Given the description of an element on the screen output the (x, y) to click on. 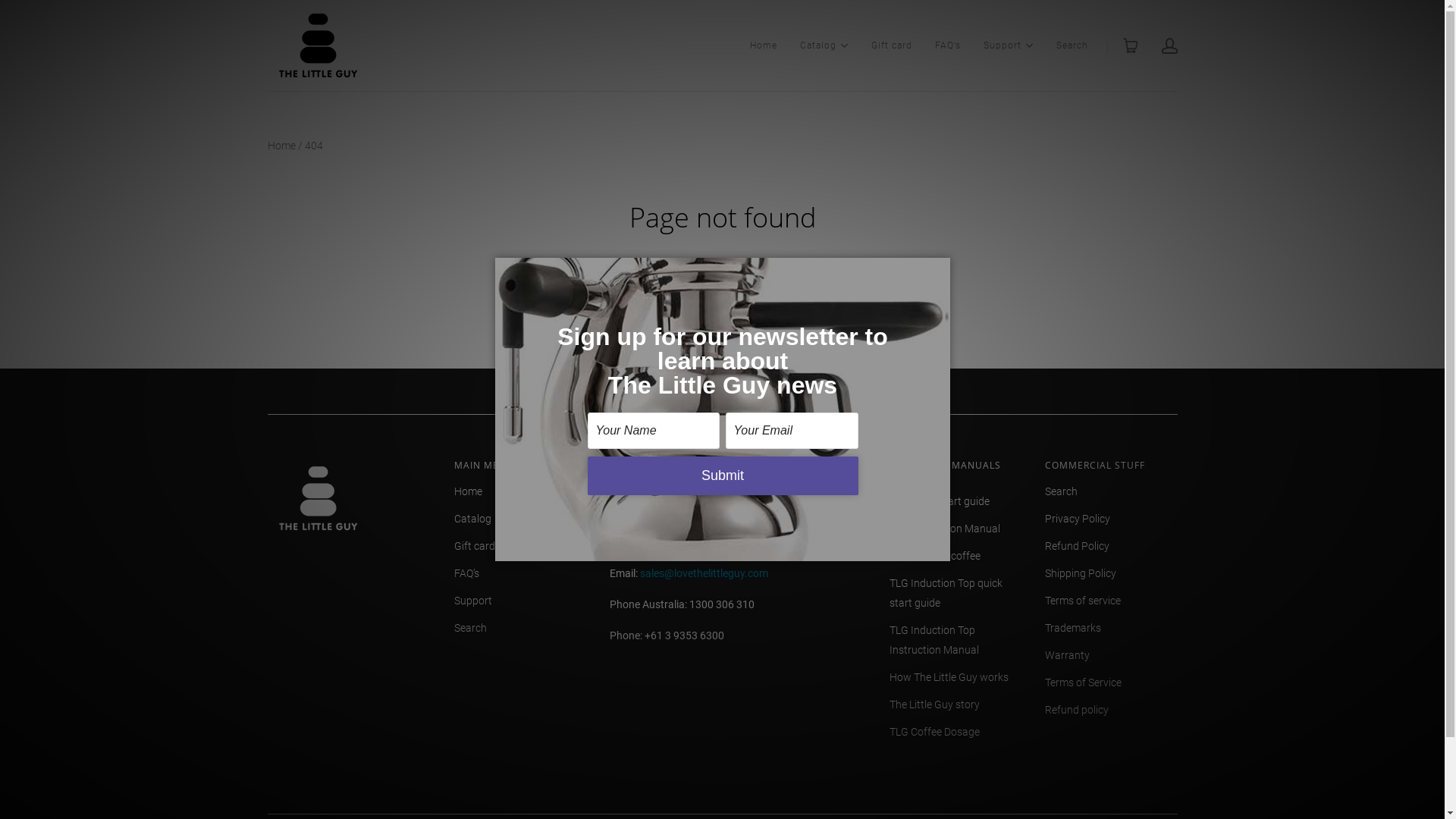
Refund policy Element type: text (1076, 709)
Home Element type: text (467, 491)
Gift card Element type: text (890, 45)
Search Element type: text (469, 627)
Support Element type: text (472, 600)
Gift card Element type: text (473, 545)
sales@lovethelittleguy.com Element type: text (704, 573)
How The Little Guy works Element type: text (947, 677)
Search Element type: text (1060, 491)
Search Element type: text (1071, 45)
Refund Policy Element type: text (1076, 545)
Home Element type: text (280, 145)
TLG Induction Top Instruction Manual Element type: text (954, 639)
TLG Induction Top quick start guide Element type: text (954, 592)
The Little Guy story Element type: text (933, 704)
Terms of service Element type: text (1082, 600)
TLG Quick start guide Element type: text (938, 501)
TLG Coffee Dosage Element type: text (933, 731)
Catalog Element type: text (471, 518)
Trademarks Element type: text (1072, 627)
Home Element type: text (762, 45)
Continue shopping Element type: text (853, 289)
Warranty Element type: text (1066, 655)
Terms of Service Element type: text (1082, 682)
Shipping Policy Element type: text (1080, 573)
How to dose coffee Element type: text (933, 555)
Privacy Policy Element type: text (1077, 518)
TLG Instruction Manual Element type: text (943, 528)
